Given the description of an element on the screen output the (x, y) to click on. 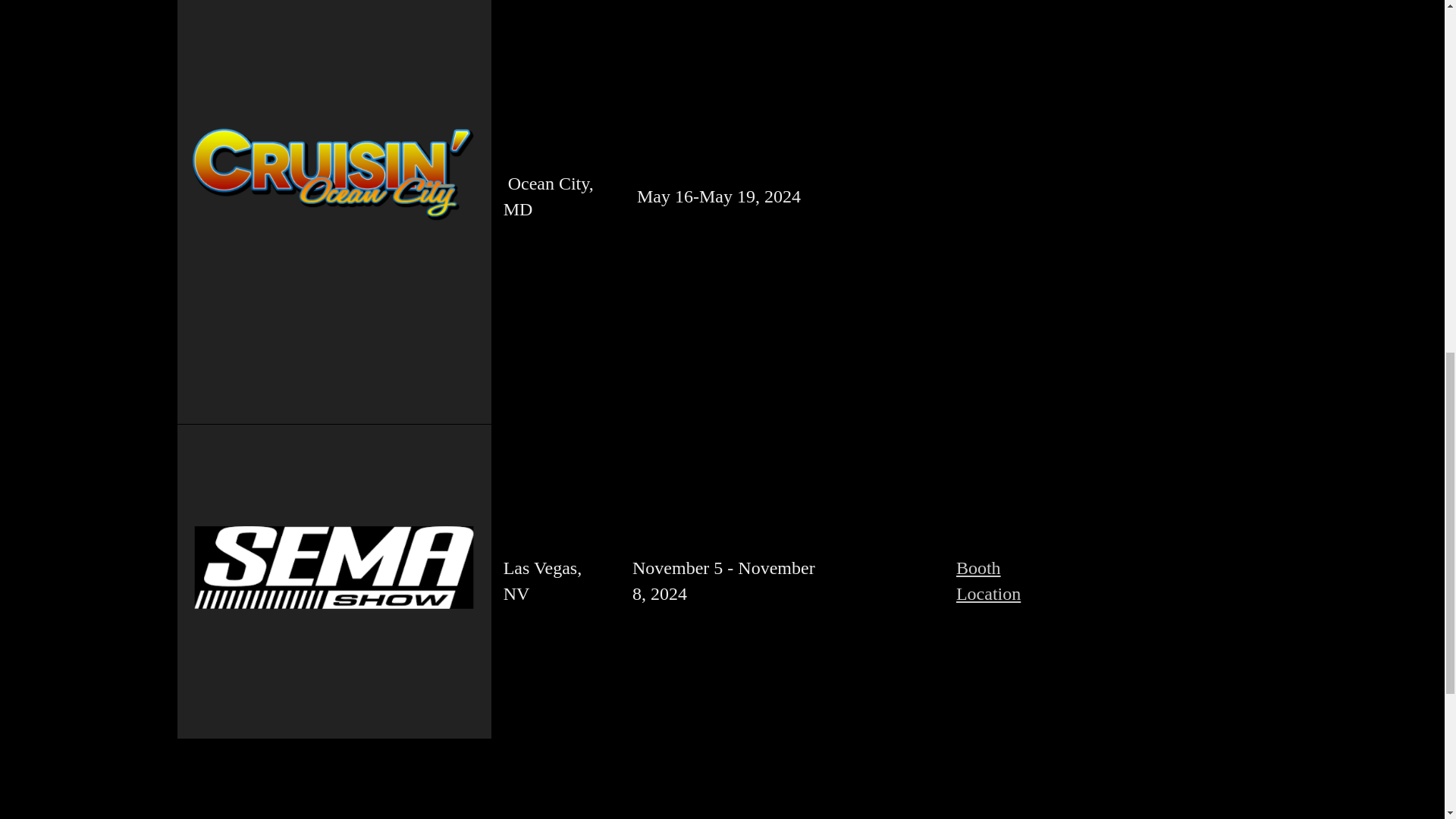
sema.png (333, 581)
ocean-city.png (333, 188)
